Given the description of an element on the screen output the (x, y) to click on. 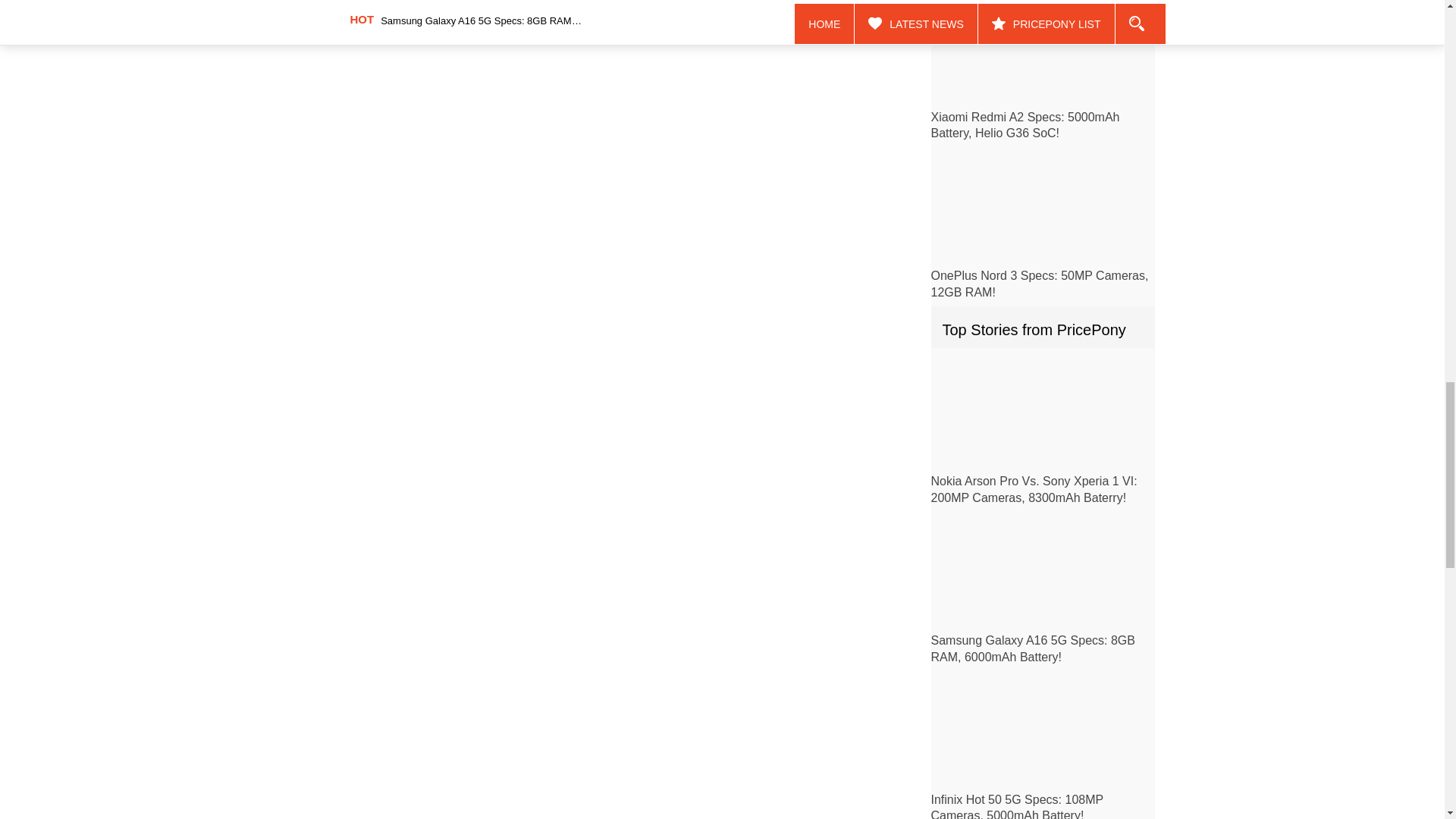
OnePlus Nord 3 Specs: 50MP Cameras, 12GB RAM! (1039, 283)
Samsung Galaxy A16 5G Specs: 8GB RAM, 6000mAh Battery! (1033, 647)
Xiaomi Redmi A2 Specs: 5000mAh Battery, Helio G36 SoC! (1042, 54)
Xiaomi Redmi A2 Specs: 5000mAh Battery, Helio G36 SoC! (1025, 124)
Infinix Hot 50 5G Specs: 108MP Cameras, 5000mAh Battery! (1017, 806)
Xiaomi Redmi A2 Specs: 5000mAh Battery, Helio G36 SoC! (1025, 124)
